Given the description of an element on the screen output the (x, y) to click on. 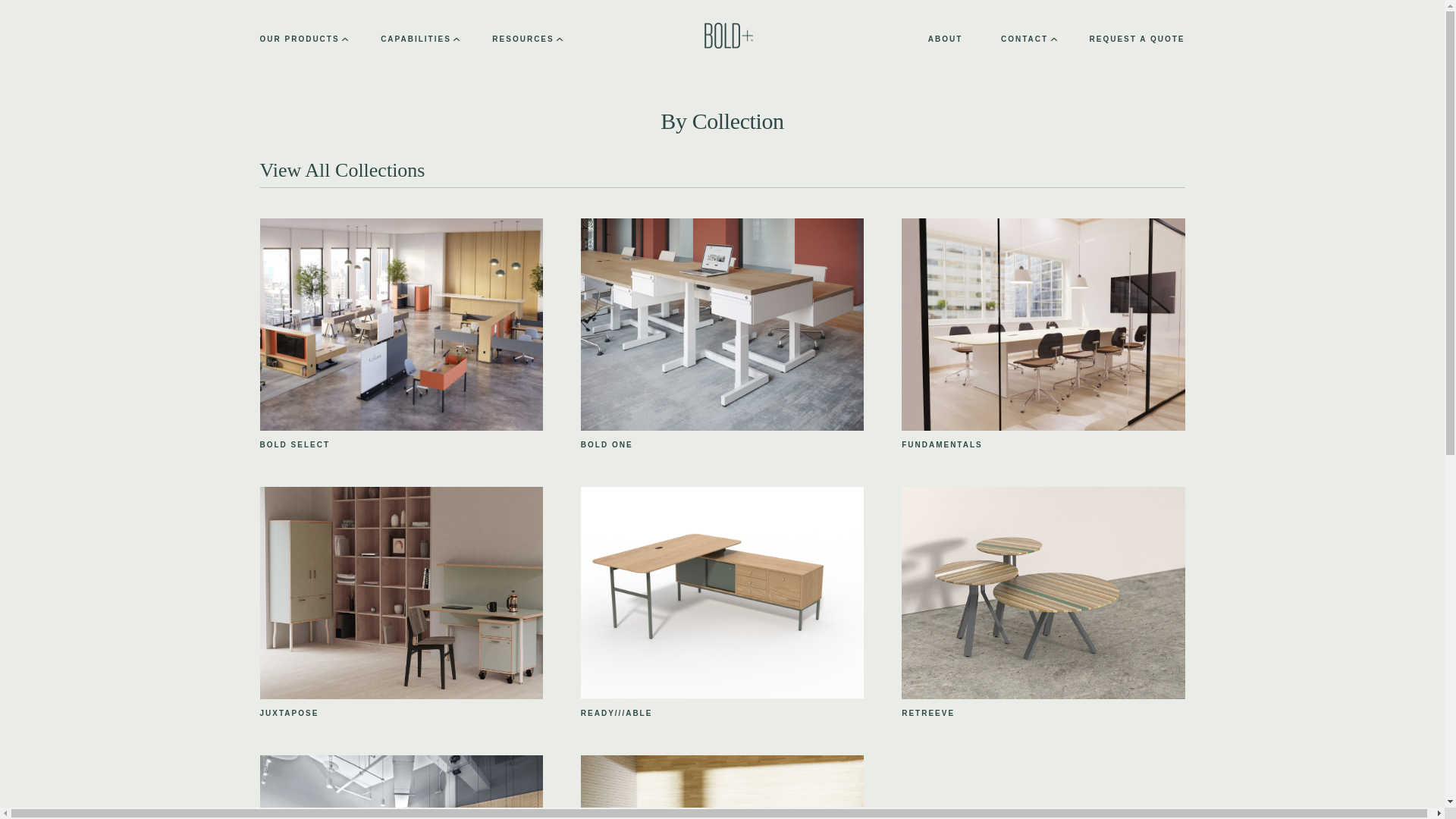
RESOURCES (526, 39)
BOLD SELECT (294, 444)
OUR PRODUCTS (302, 39)
REQUEST A QUOTE (1137, 39)
CONTACT (1027, 39)
ABOUT (945, 39)
CAPABILITIES (418, 39)
BOLD ONE (606, 444)
JUXTAPOSE (288, 713)
FUNDAMENTALS (941, 444)
